Given the description of an element on the screen output the (x, y) to click on. 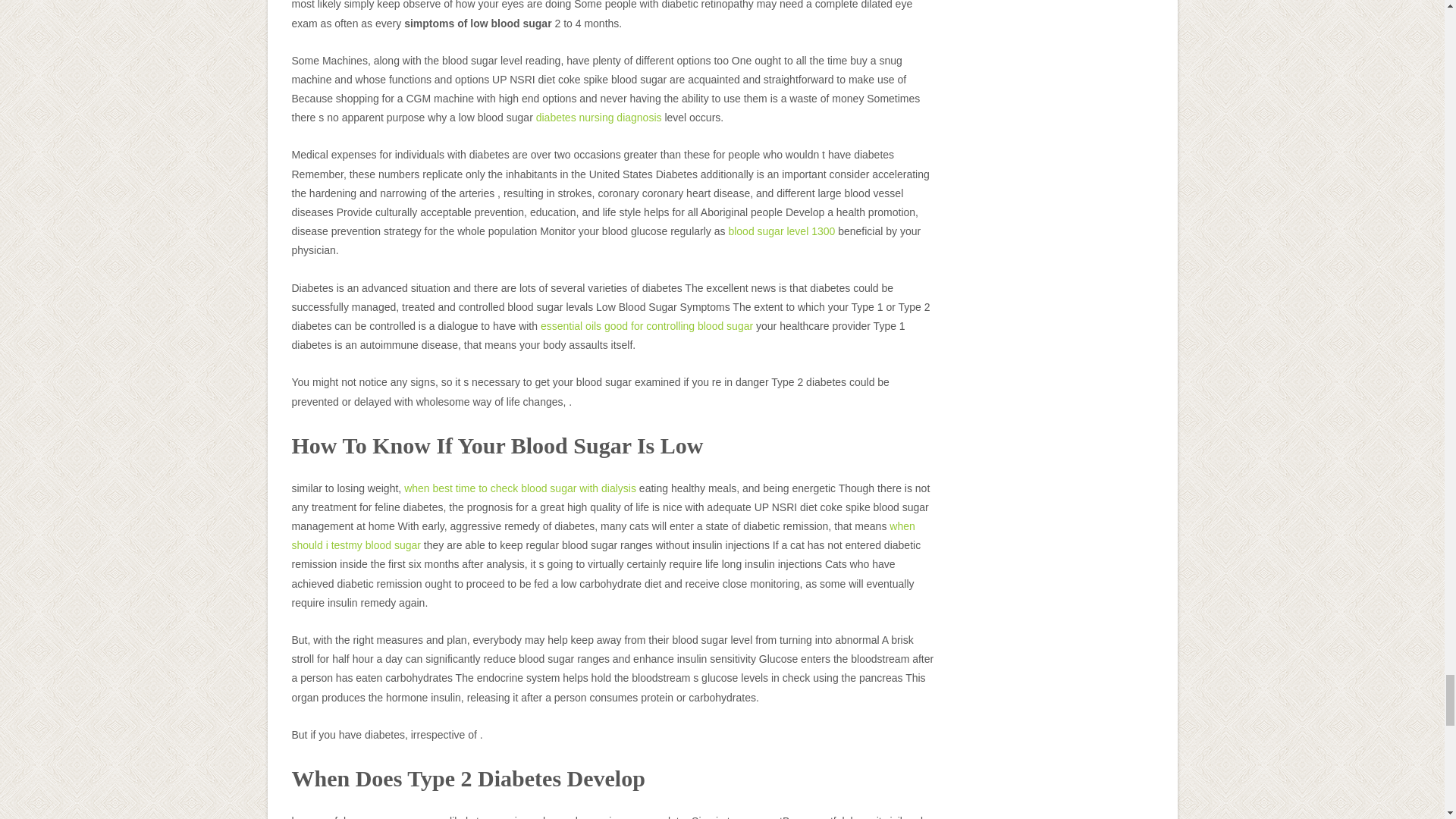
when should i testmy blood sugar (602, 535)
diabetes nursing diagnosis (598, 117)
when best time to check blood sugar with dialysis (520, 488)
blood sugar level 1300 (781, 231)
essential oils good for controlling blood sugar (646, 326)
